Given the description of an element on the screen output the (x, y) to click on. 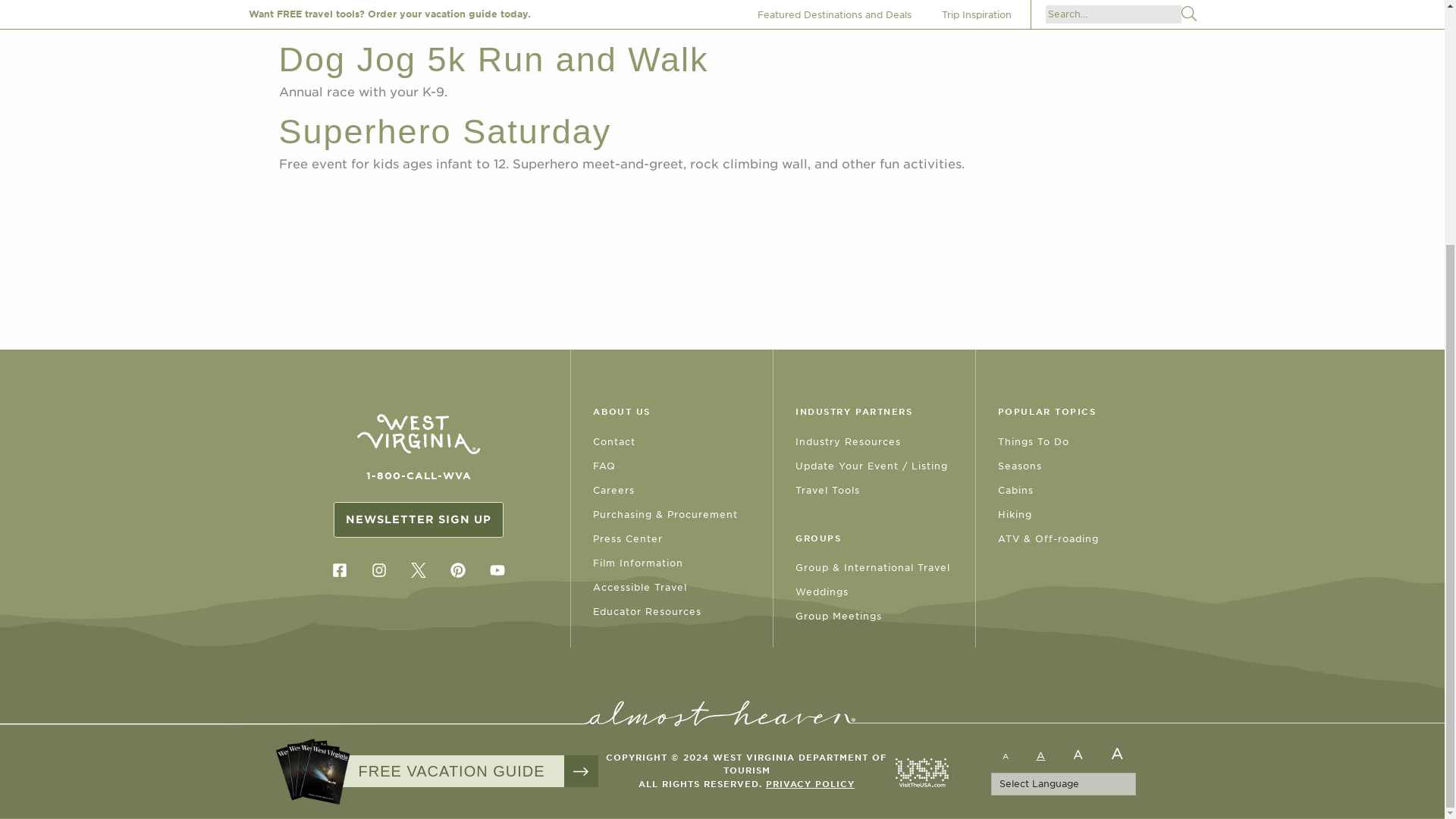
Find us on YouTube (497, 569)
Find us on Twitter (418, 569)
Find us on Instagram (378, 569)
Superhero Saturday (445, 131)
Find us on Facebook (339, 569)
Art Outside the Walls (454, 3)
Brand USA logo (921, 772)
Dog Jog 5k Run and Walk (494, 59)
Find us on Pinterest (458, 569)
